Given the description of an element on the screen output the (x, y) to click on. 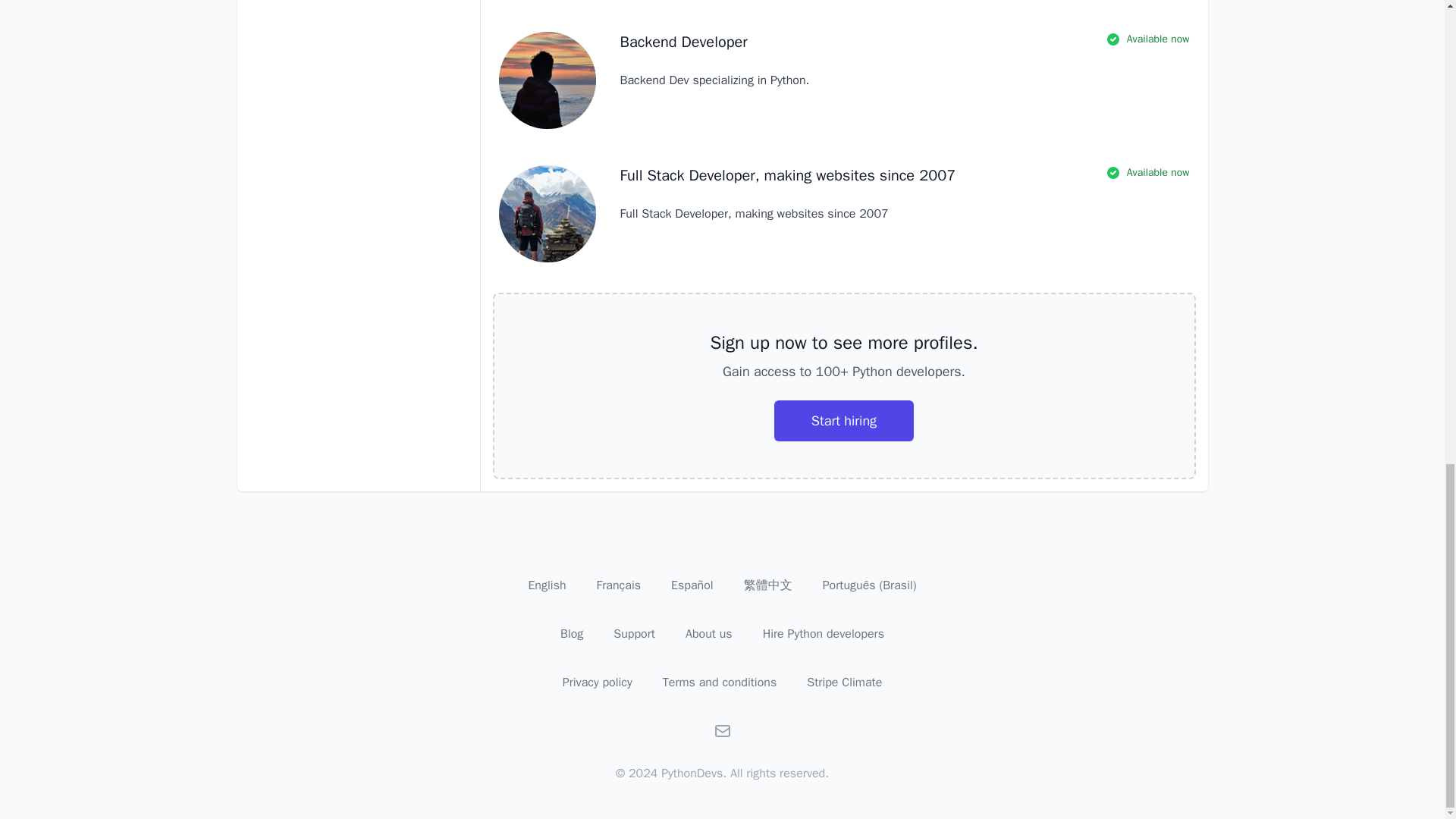
Check Circle (1113, 172)
Backend Developer (684, 42)
Check Circle (1113, 38)
Full Stack Developer, making websites since 2007 (788, 175)
